Given the description of an element on the screen output the (x, y) to click on. 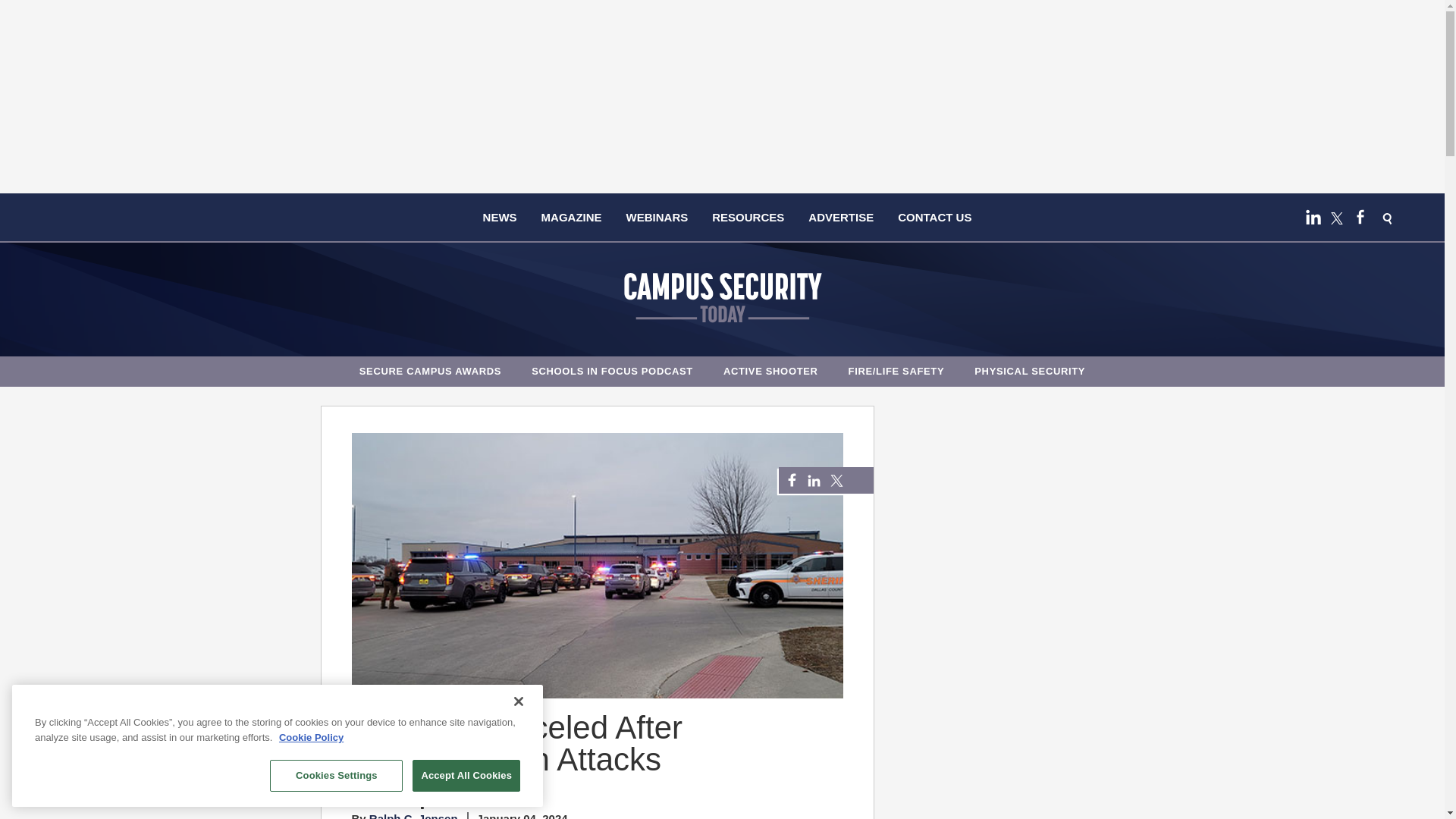
Ralph C. Jensen (413, 815)
SECURE CAMPUS AWARDS (430, 369)
WEBINARS (657, 217)
RESOURCES (747, 217)
SCHOOLS IN FOCUS PODCAST (611, 369)
ACTIVE SHOOTER (770, 369)
CONTACT US (934, 217)
NEWS (499, 217)
PHYSICAL SECURITY (1029, 369)
MAGAZINE (571, 217)
ADVERTISE (840, 217)
